Given the description of an element on the screen output the (x, y) to click on. 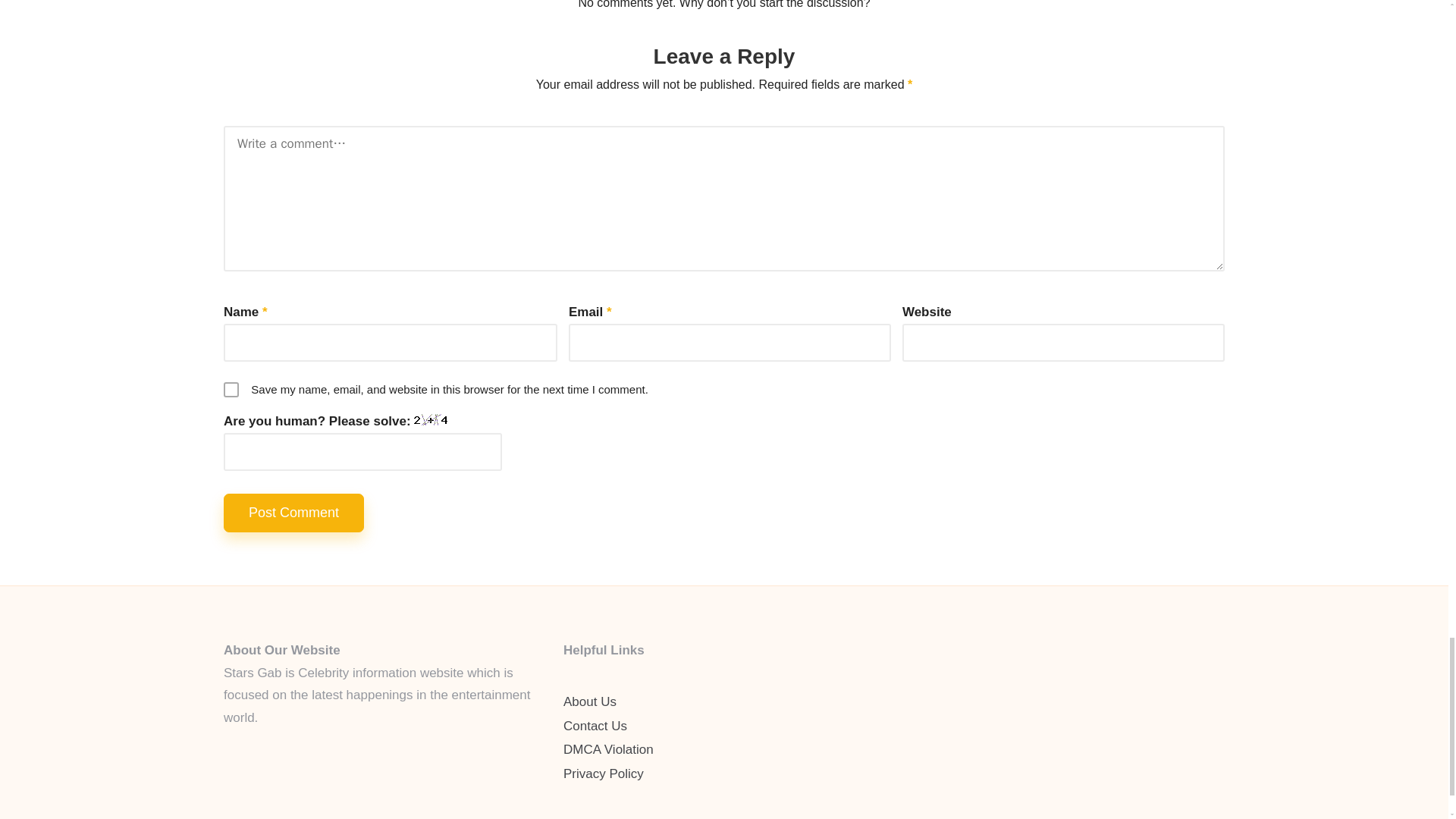
yes (231, 389)
Post Comment (294, 512)
